Given the description of an element on the screen output the (x, y) to click on. 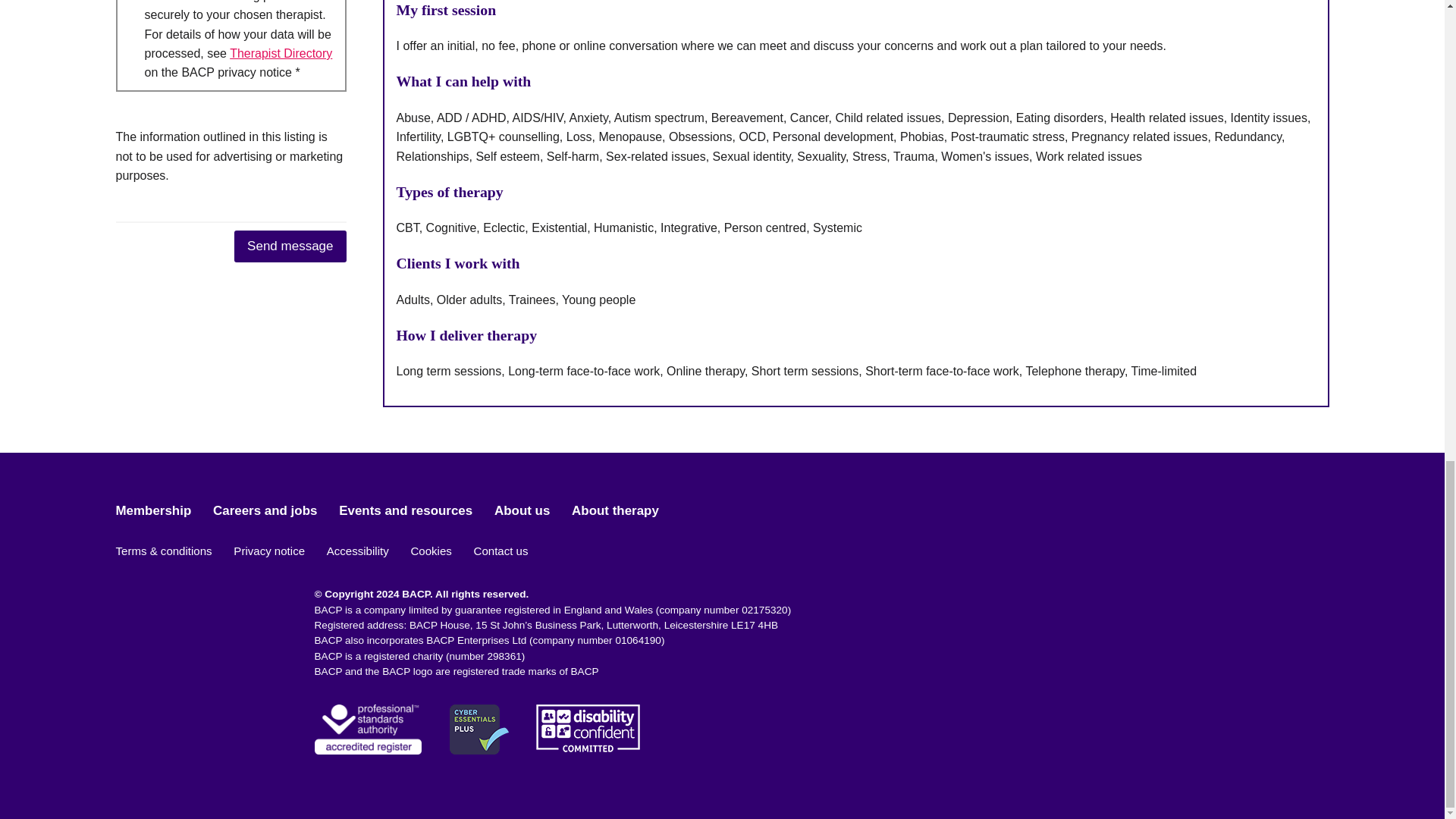
Privacy (280, 52)
